Given the description of an element on the screen output the (x, y) to click on. 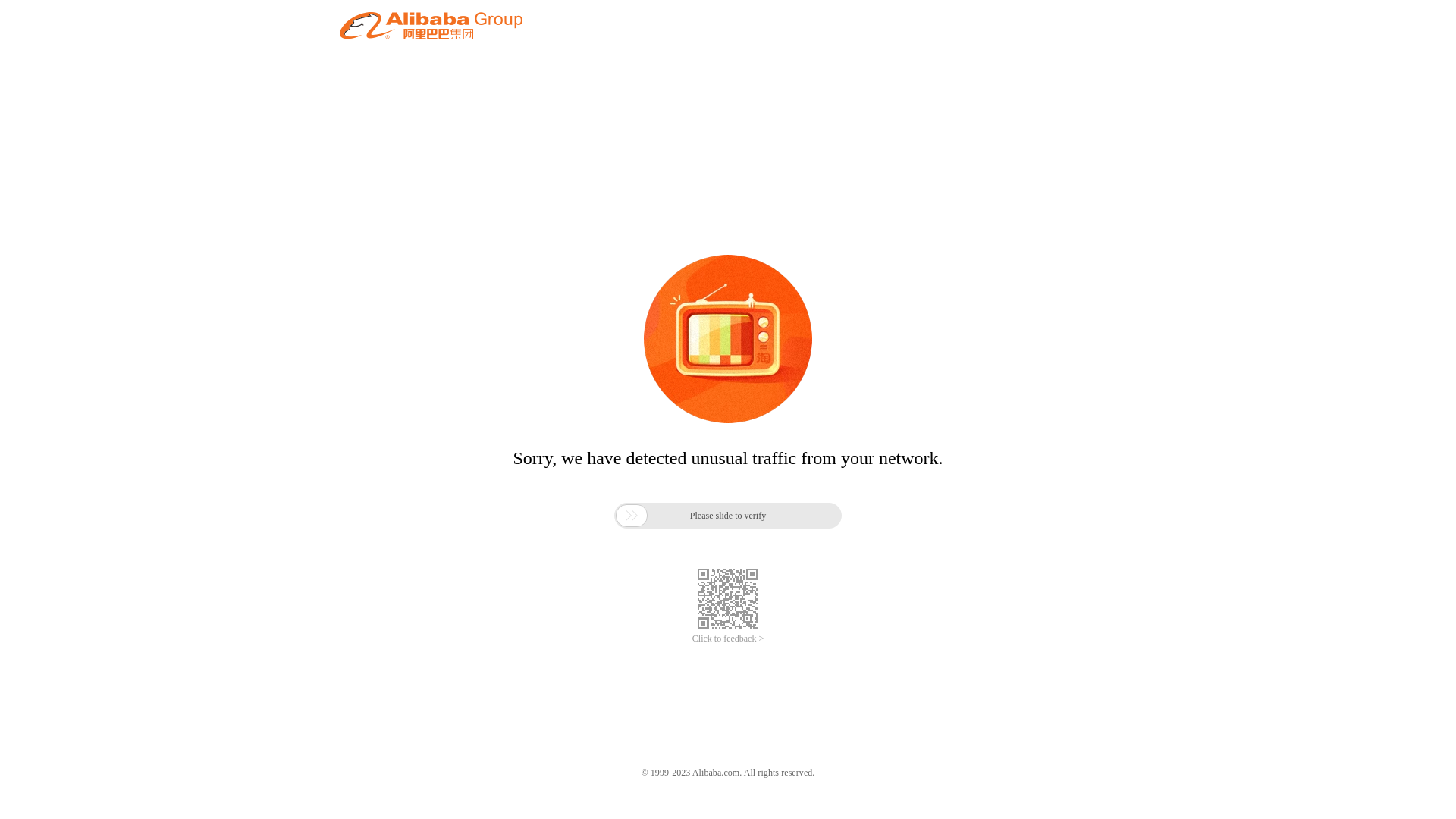
Click to feedback > Element type: text (727, 638)
